Given the description of an element on the screen output the (x, y) to click on. 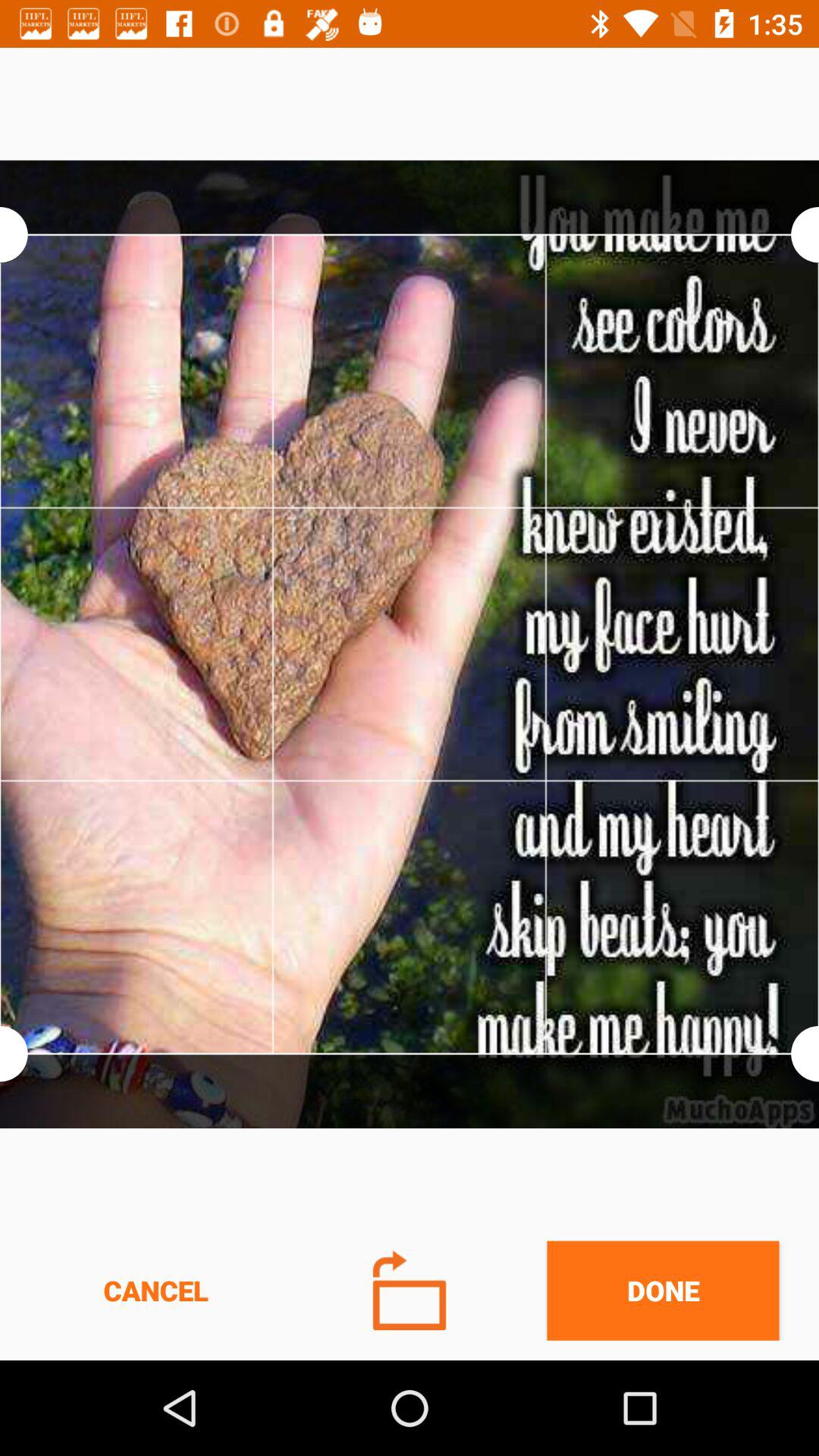
turn on the button at the bottom left corner (155, 1290)
